Given the description of an element on the screen output the (x, y) to click on. 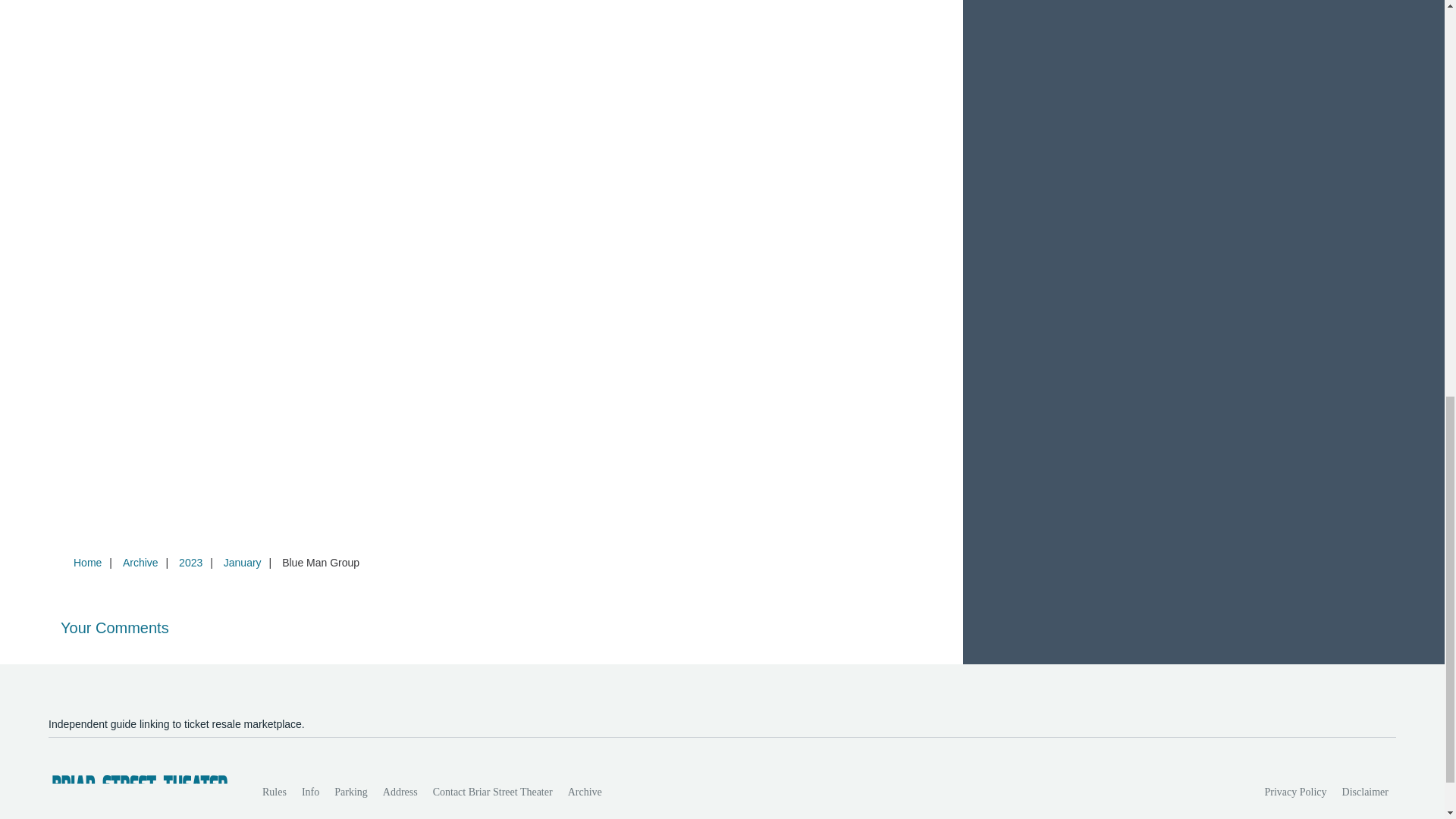
2023 (190, 562)
Parking (350, 792)
Address (400, 792)
Archive (585, 792)
Info (310, 792)
Archive (140, 562)
VIEW ALL EVENTS (1203, 2)
Contact Briar Street Theater (492, 792)
January (242, 562)
Privacy Policy (1296, 792)
